Given the description of an element on the screen output the (x, y) to click on. 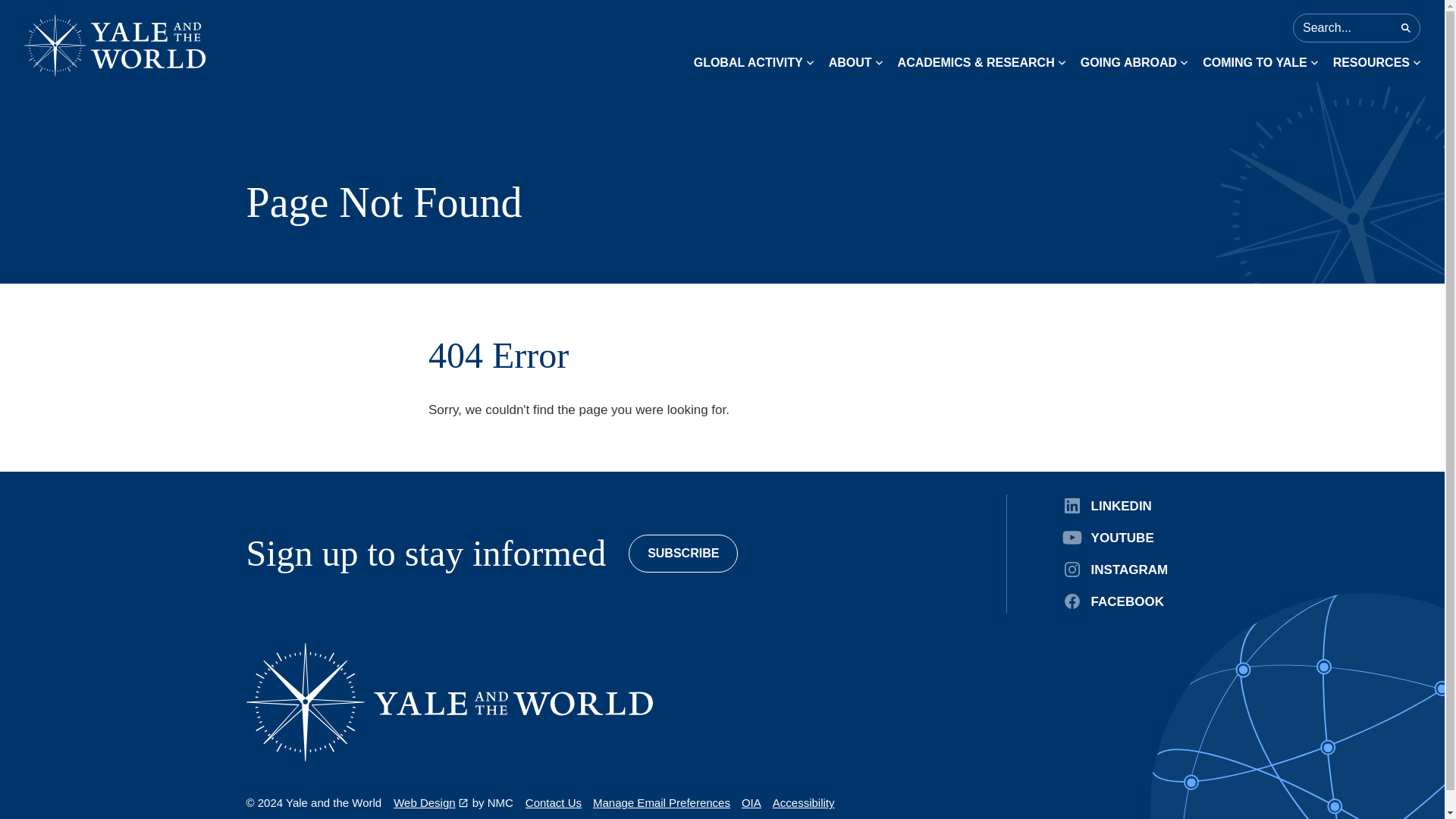
ABOUT (855, 62)
GOING ABROAD (1134, 62)
COMING TO YALE (1259, 62)
homepage (115, 45)
homepage (449, 701)
GLOBAL ACTIVITY (753, 62)
